Given the description of an element on the screen output the (x, y) to click on. 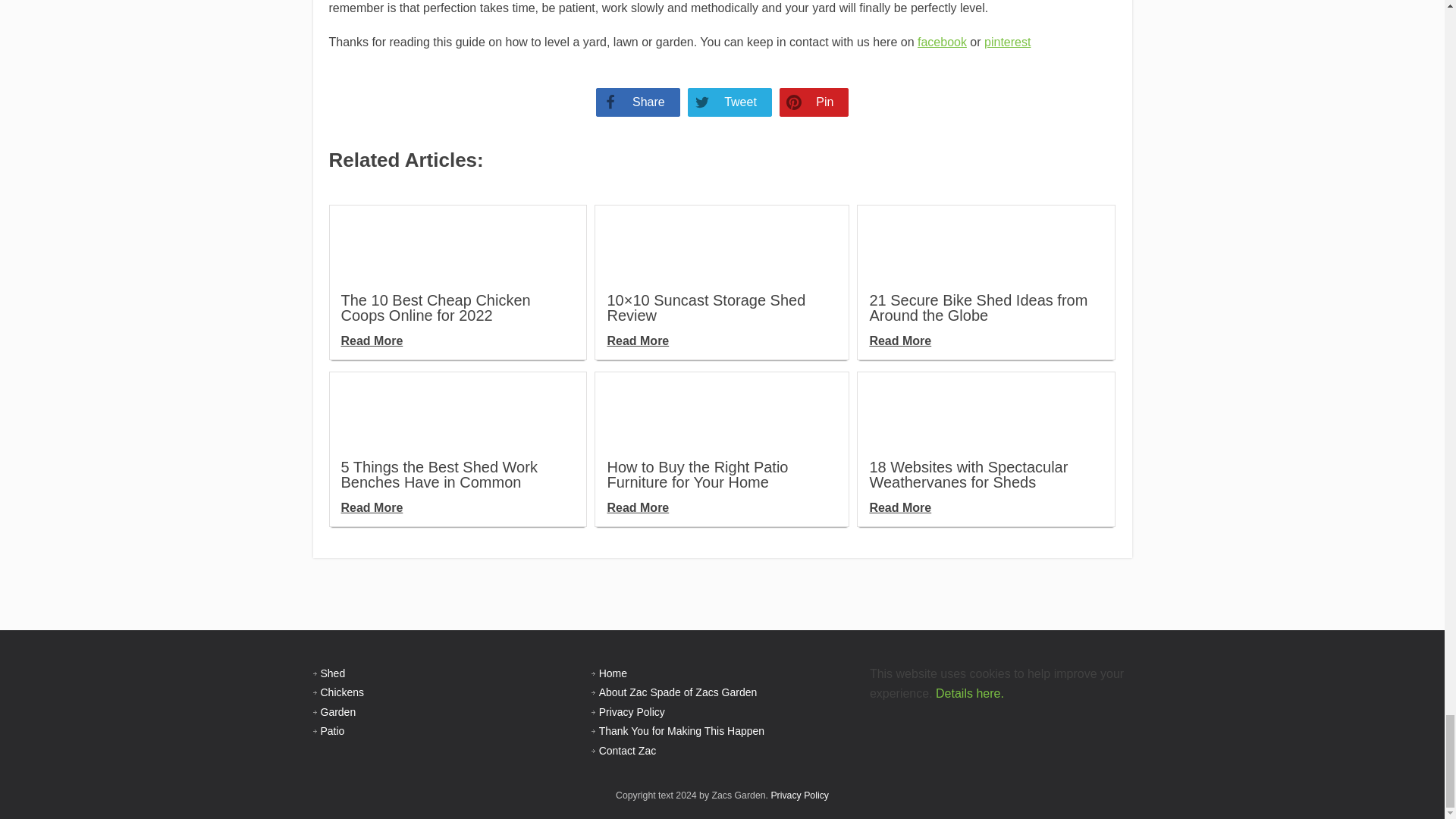
Share (637, 102)
The 10 Best Cheap Chicken Coops Online for 2022 (435, 307)
Pin (813, 102)
facebook (941, 42)
pinterest (1007, 42)
Tweet (729, 102)
Read More (371, 340)
